Given the description of an element on the screen output the (x, y) to click on. 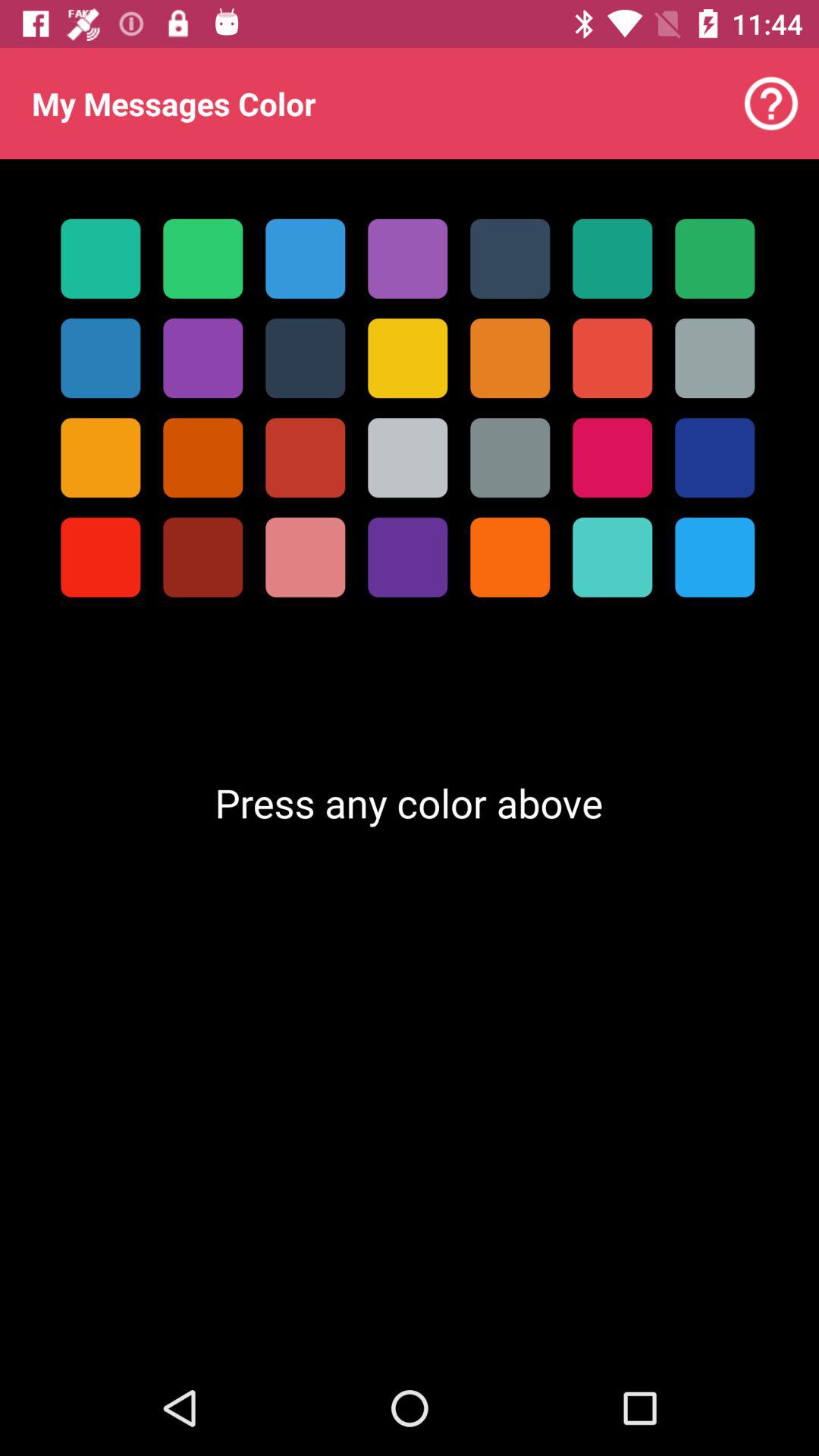
launch the icon next to the my messages color (771, 103)
